Given the description of an element on the screen output the (x, y) to click on. 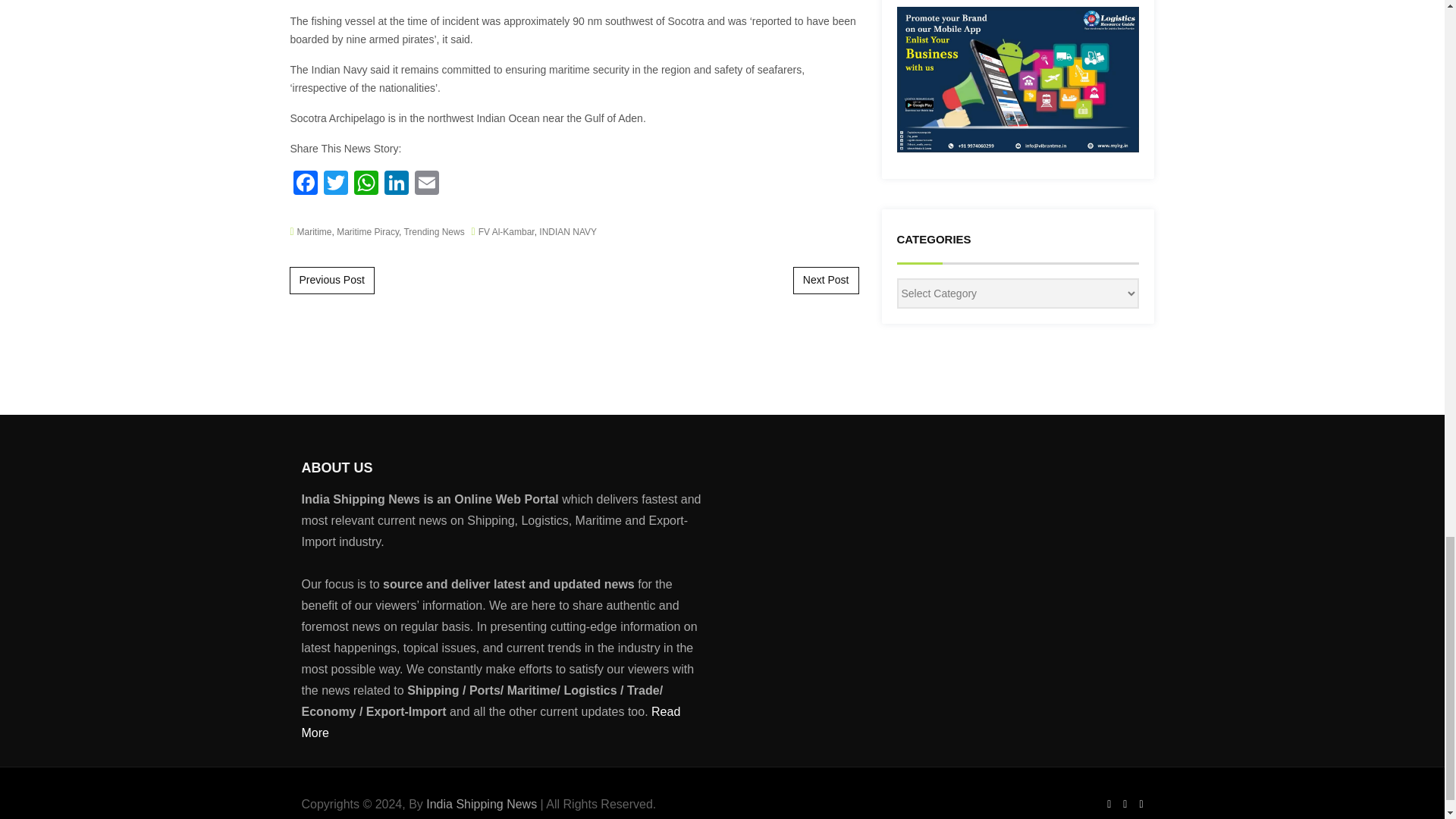
WhatsApp (365, 184)
Email (425, 184)
Facebook (304, 184)
LinkedIn (395, 184)
Twitter (335, 184)
